Given the description of an element on the screen output the (x, y) to click on. 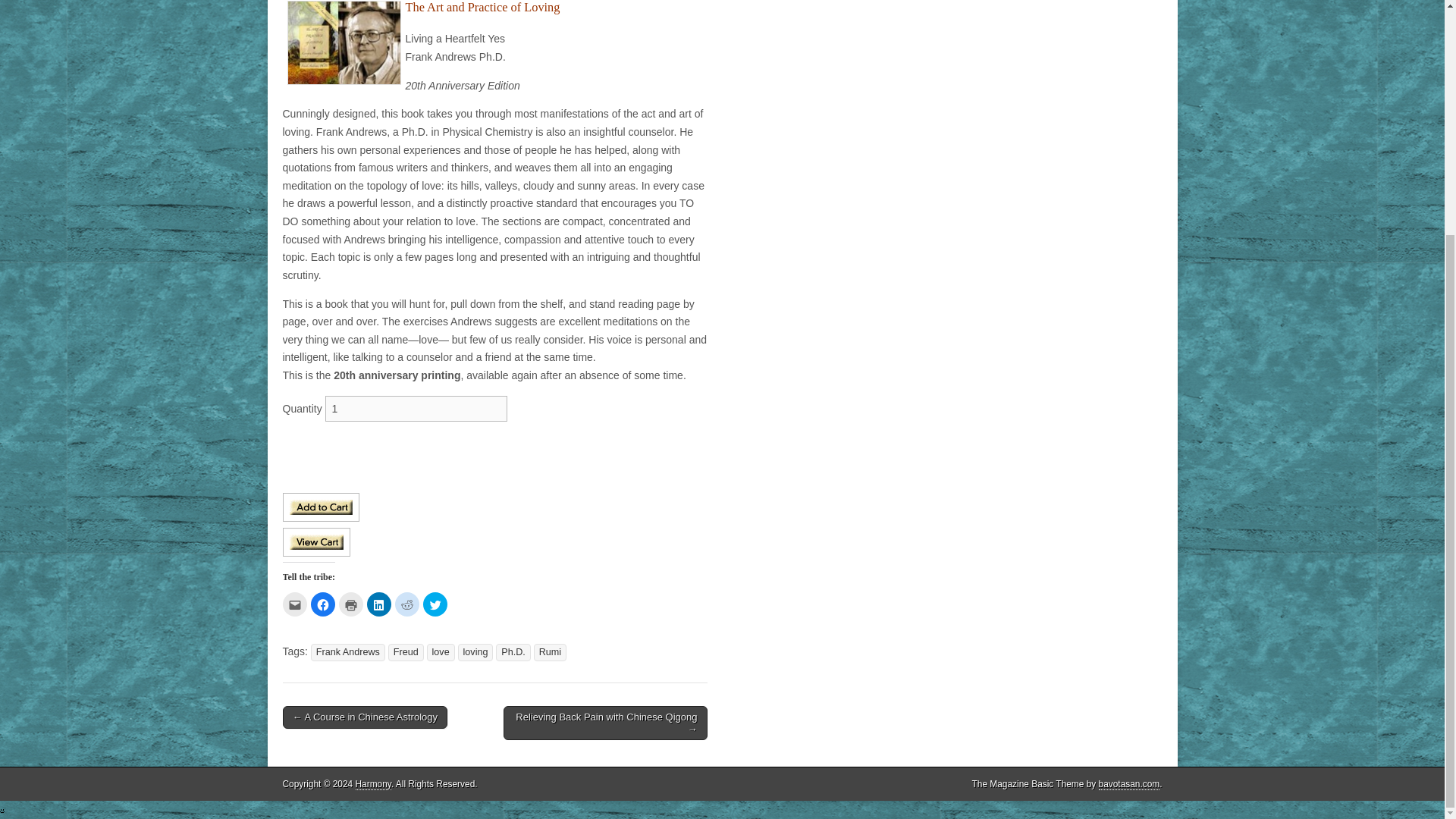
loving (475, 651)
love (440, 651)
Rumi (550, 651)
Ph.D. (513, 651)
1 (415, 408)
Harmony (373, 784)
Freud (405, 651)
Click to share on LinkedIn (378, 604)
Click to share on Reddit (406, 604)
Click to share on Facebook (322, 604)
